Given the description of an element on the screen output the (x, y) to click on. 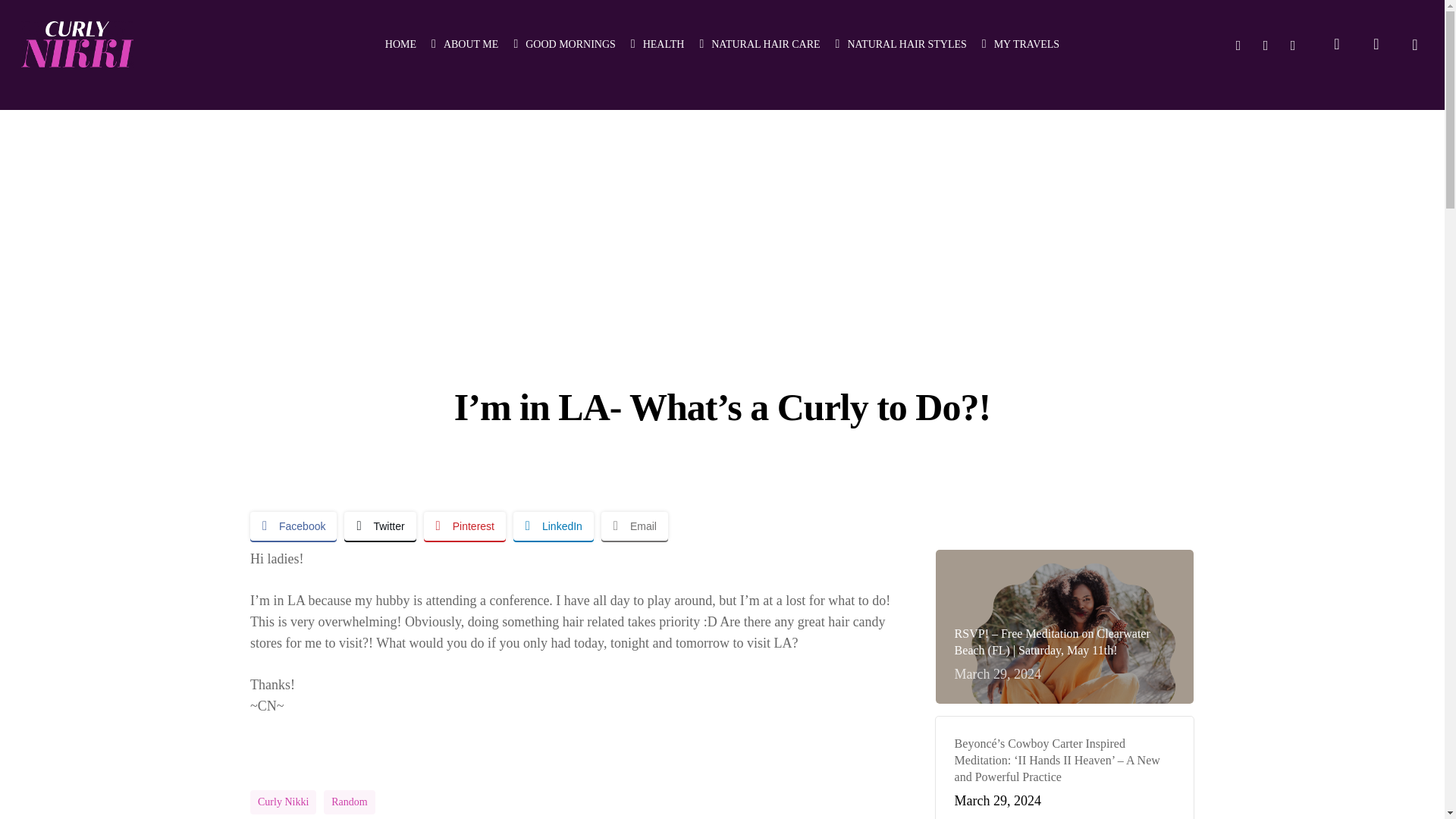
HEALTH (657, 44)
GOOD MORNINGS (563, 44)
HOME (400, 44)
NATURAL HAIR CARE (758, 44)
ABOUT ME (463, 44)
NATURAL HAIR STYLES (900, 44)
